Given the description of an element on the screen output the (x, y) to click on. 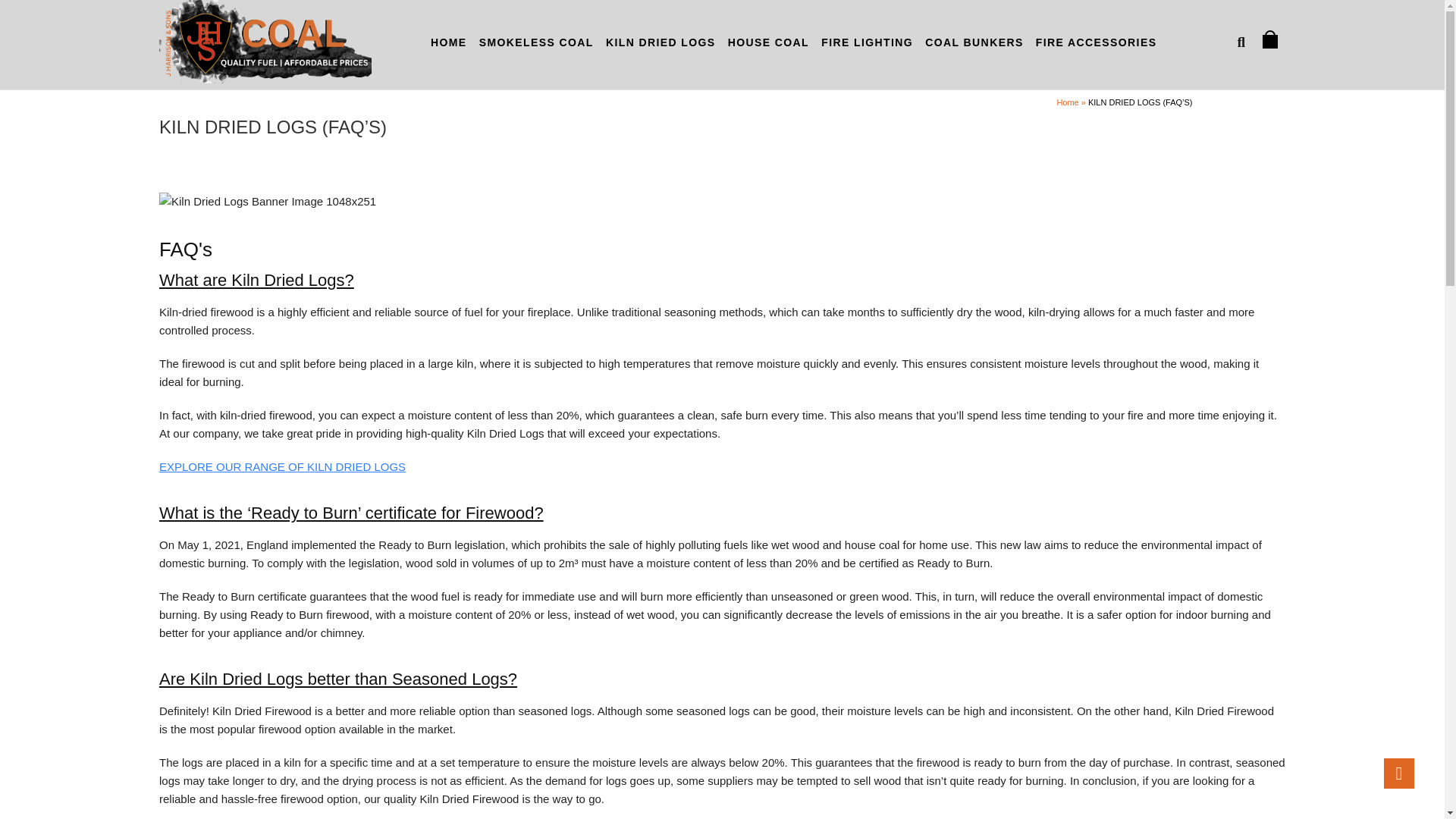
What are Kiln Dried Logs? (255, 280)
Home (1067, 102)
SMOKELESS COAL (536, 42)
COAL BUNKERS (973, 42)
Are Kiln Dried Logs better than Seasoned Logs? (337, 678)
0 (1272, 39)
HOME (448, 42)
FIRE ACCESSORIES (1095, 42)
EXPLORE OUR RANGE OF KILN DRIED LOGS (282, 466)
FIRE LIGHTING (866, 42)
HOUSE COAL (768, 42)
KILN DRIED LOGS (660, 42)
Kiln Dried Logs Banner Image 1048x251 (266, 201)
